Given the description of an element on the screen output the (x, y) to click on. 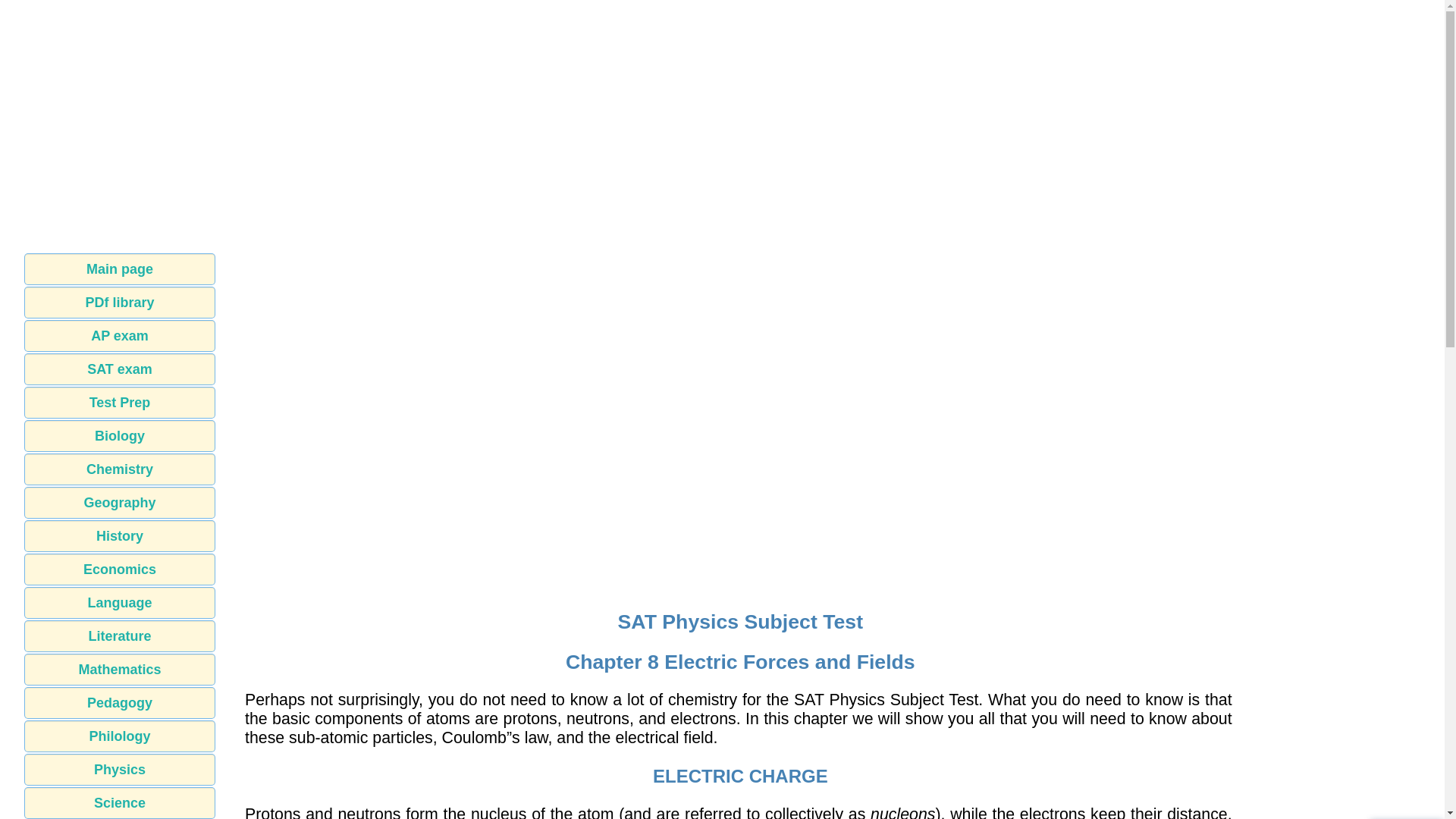
Main page (119, 269)
Mathematics (119, 669)
Literature (119, 635)
SAT exam (119, 368)
Language (119, 603)
Geography (119, 502)
Test Prep (119, 402)
Science (119, 803)
Biology (119, 436)
